Given the description of an element on the screen output the (x, y) to click on. 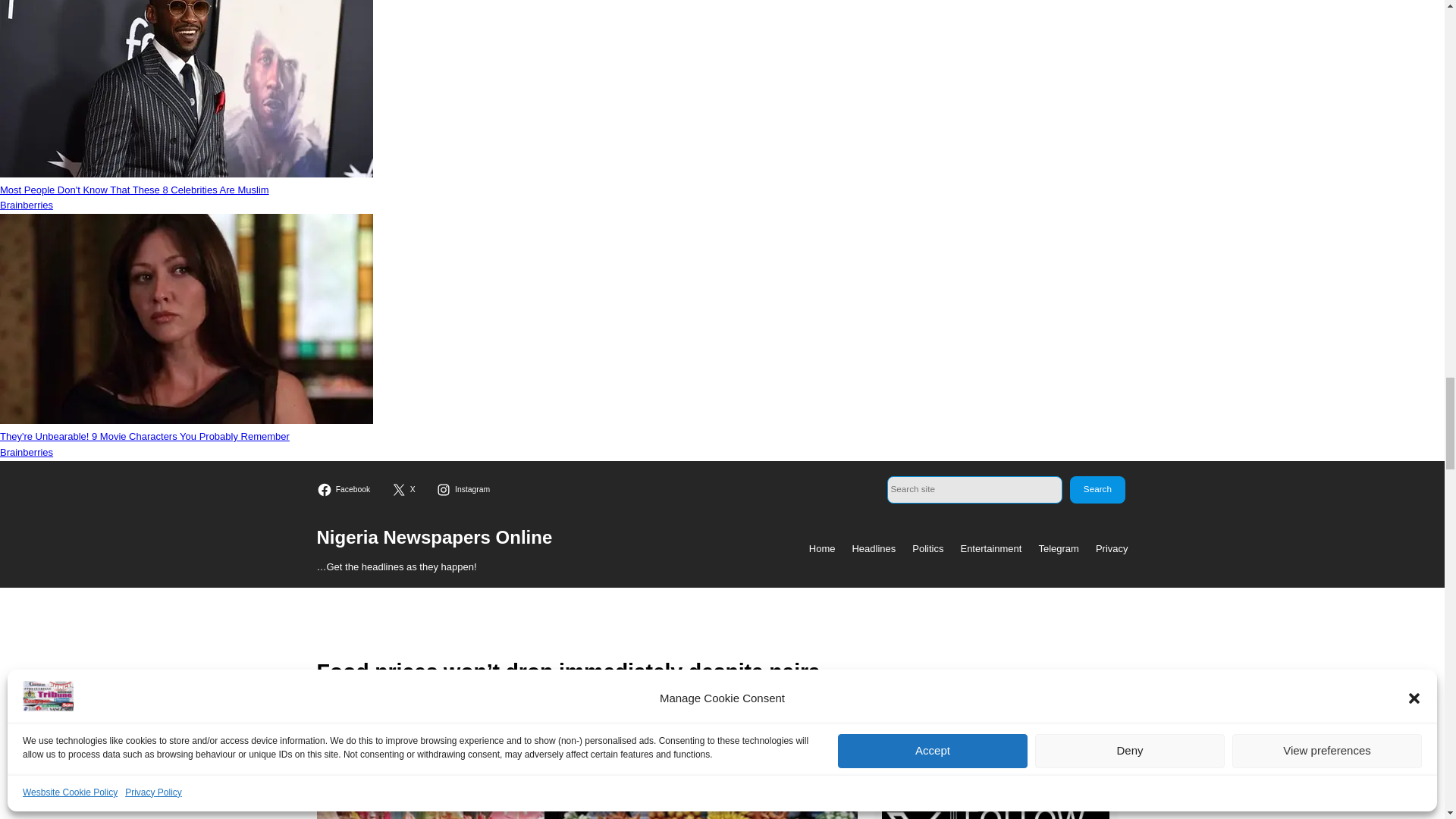
Entertainment (990, 549)
Headlines (873, 549)
Privacy (1112, 549)
X (405, 489)
Business (449, 741)
Facebook (345, 489)
Politics (927, 549)
Home (822, 549)
Nigeria Newspapers Online (435, 537)
Search (1097, 489)
Instagram (465, 489)
Telegram (1058, 549)
